Given the description of an element on the screen output the (x, y) to click on. 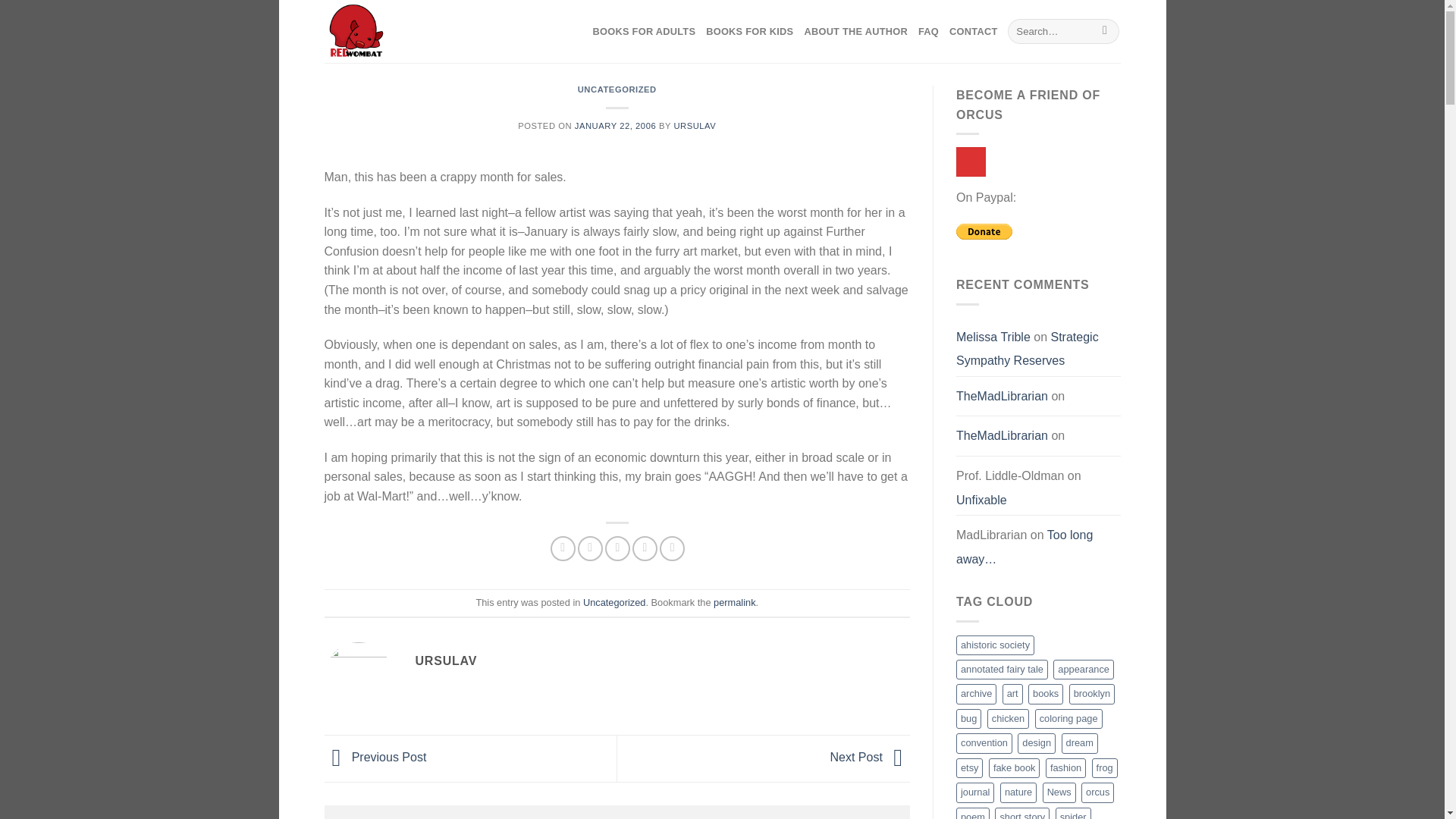
permalink (734, 602)
Uncategorized (614, 602)
BOOKS FOR ADULTS (643, 31)
Previous Post (375, 757)
Share on LinkedIn (671, 548)
Share on Facebook (562, 548)
Permalink to  (734, 602)
Share on Twitter (590, 548)
UNCATEGORIZED (617, 89)
URSULAV (694, 125)
BOOKS FOR KIDS (749, 31)
Email to a Friend (617, 548)
JANUARY 22, 2006 (615, 125)
Pin on Pinterest (644, 548)
